Given the description of an element on the screen output the (x, y) to click on. 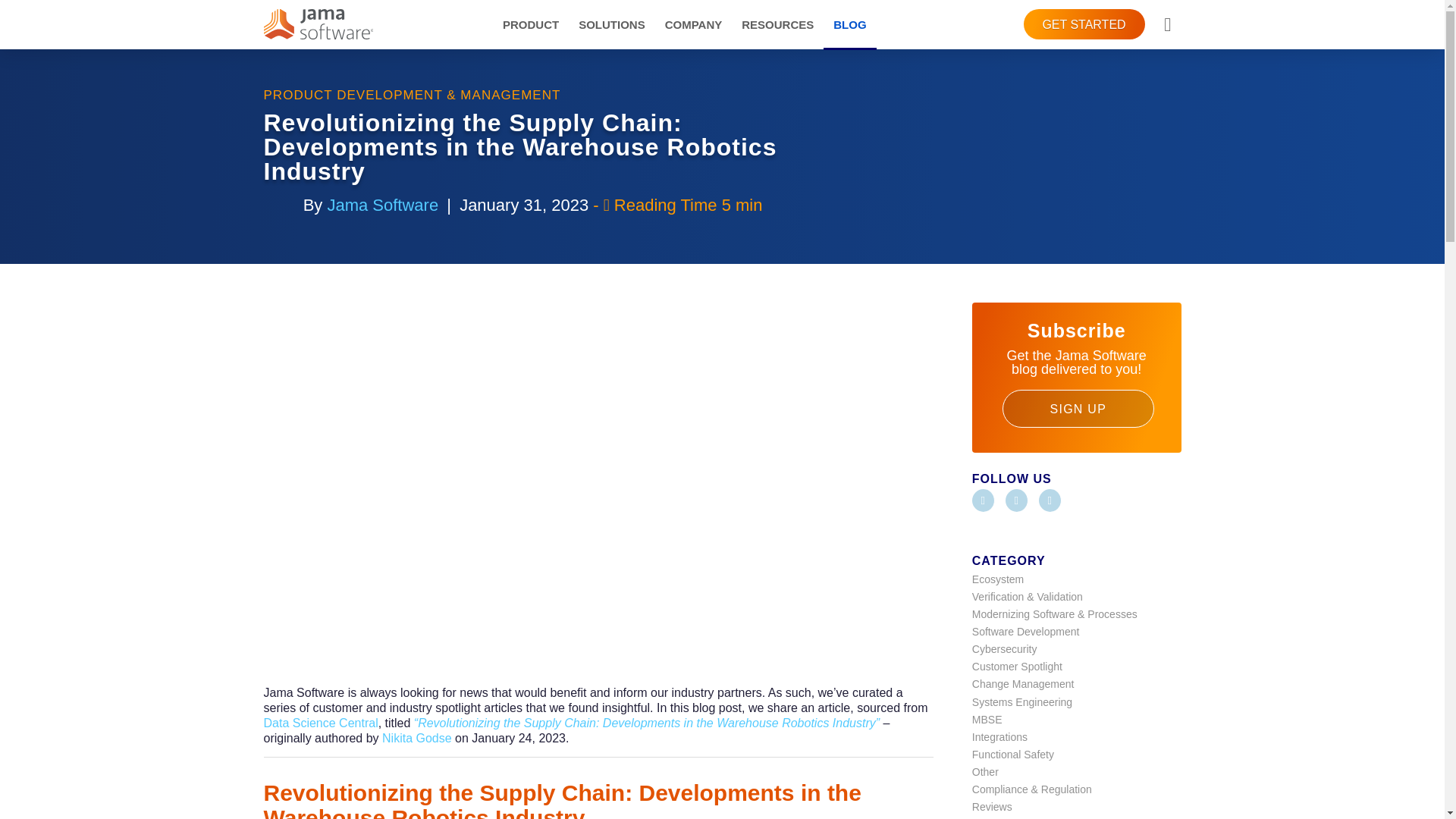
Posts by Jama Software (382, 204)
Facebook (983, 499)
Youtube (1050, 499)
PRODUCT (531, 24)
COMPANY (693, 24)
SOLUTIONS (612, 24)
LinkedIn (1016, 499)
